Given the description of an element on the screen output the (x, y) to click on. 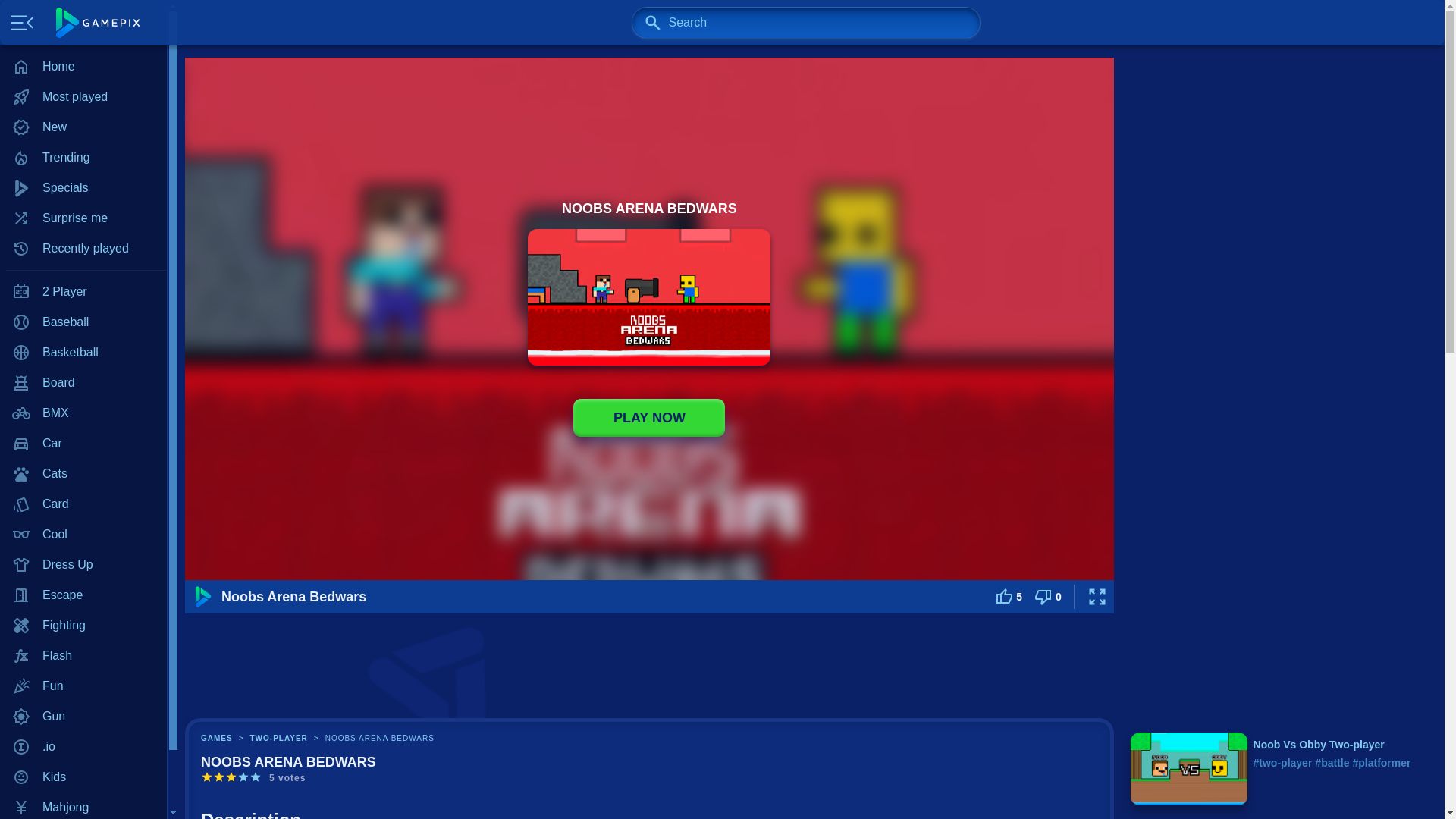
Most played (83, 96)
Baseball (83, 322)
Card (83, 503)
Escape (83, 594)
Kids (83, 777)
Baseball (83, 322)
Trending (83, 157)
Specials (83, 187)
2 Player (83, 291)
Car (83, 443)
